Given the description of an element on the screen output the (x, y) to click on. 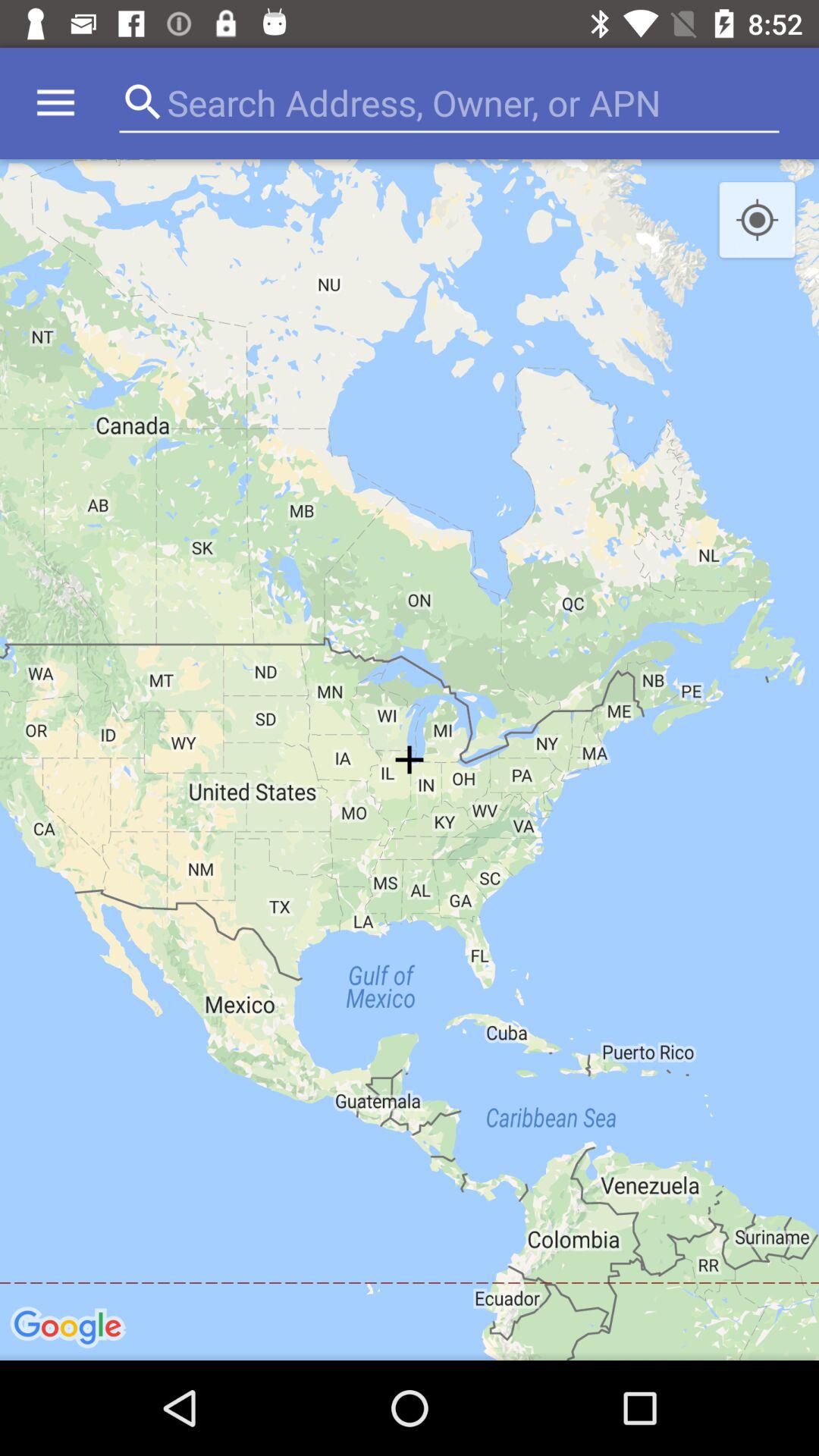
select icon at the top left corner (55, 103)
